Given the description of an element on the screen output the (x, y) to click on. 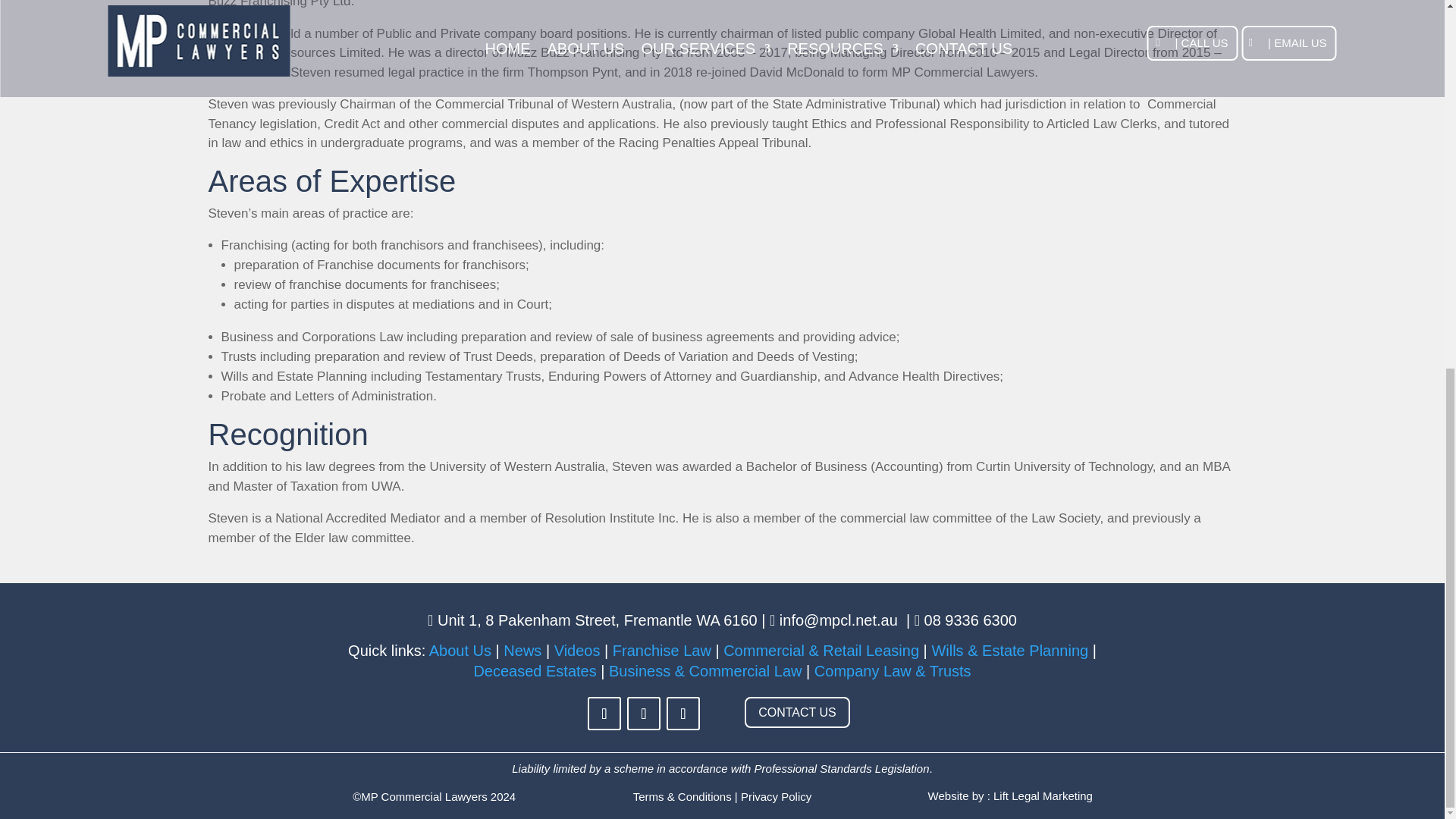
Follow on Facebook (604, 713)
Follow on Youtube (683, 713)
Follow on LinkedIn (644, 713)
